Given the description of an element on the screen output the (x, y) to click on. 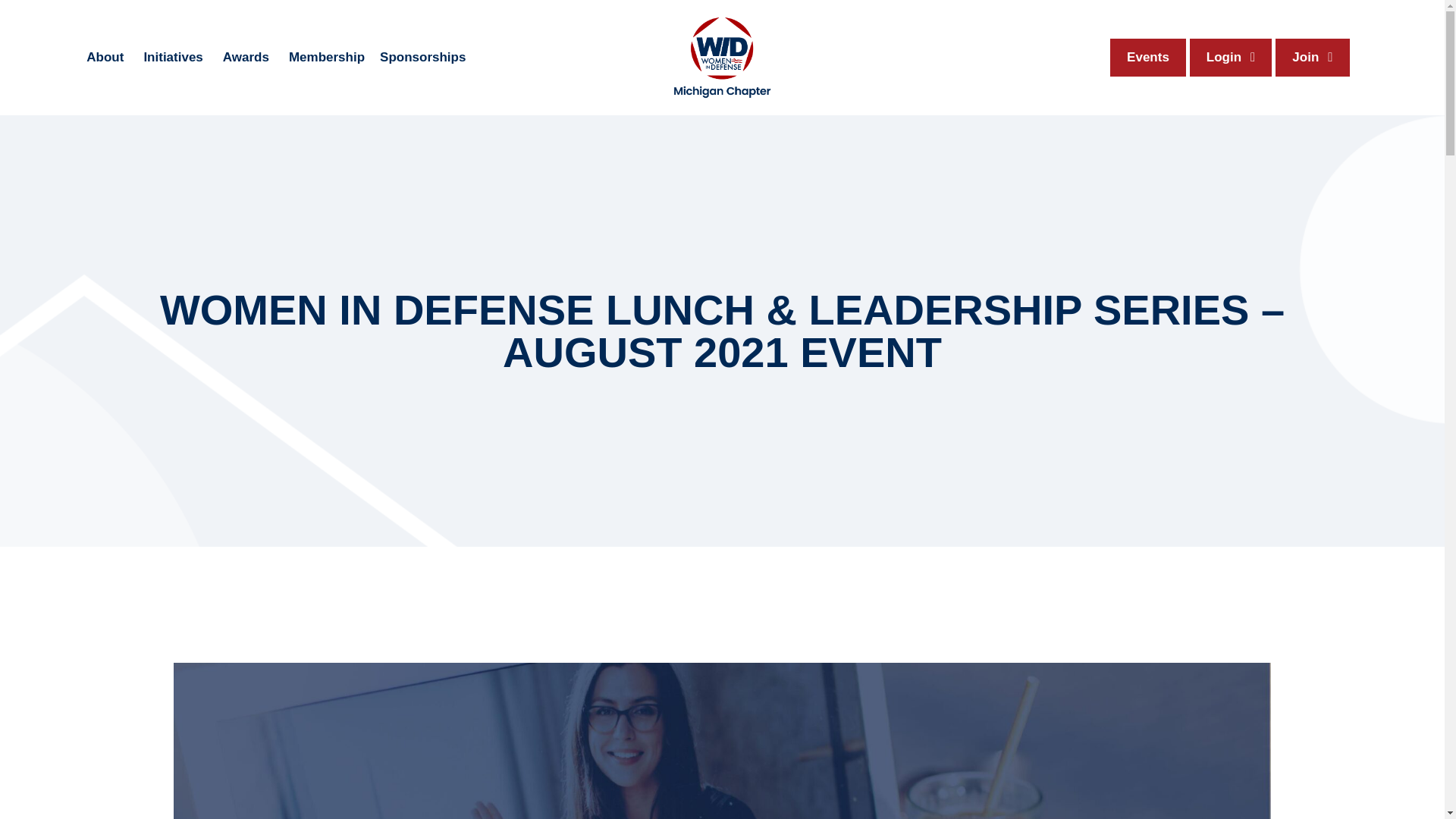
About (106, 57)
Sponsorships (422, 57)
Initiatives (174, 57)
Awards (247, 57)
Membership (326, 57)
